Given the description of an element on the screen output the (x, y) to click on. 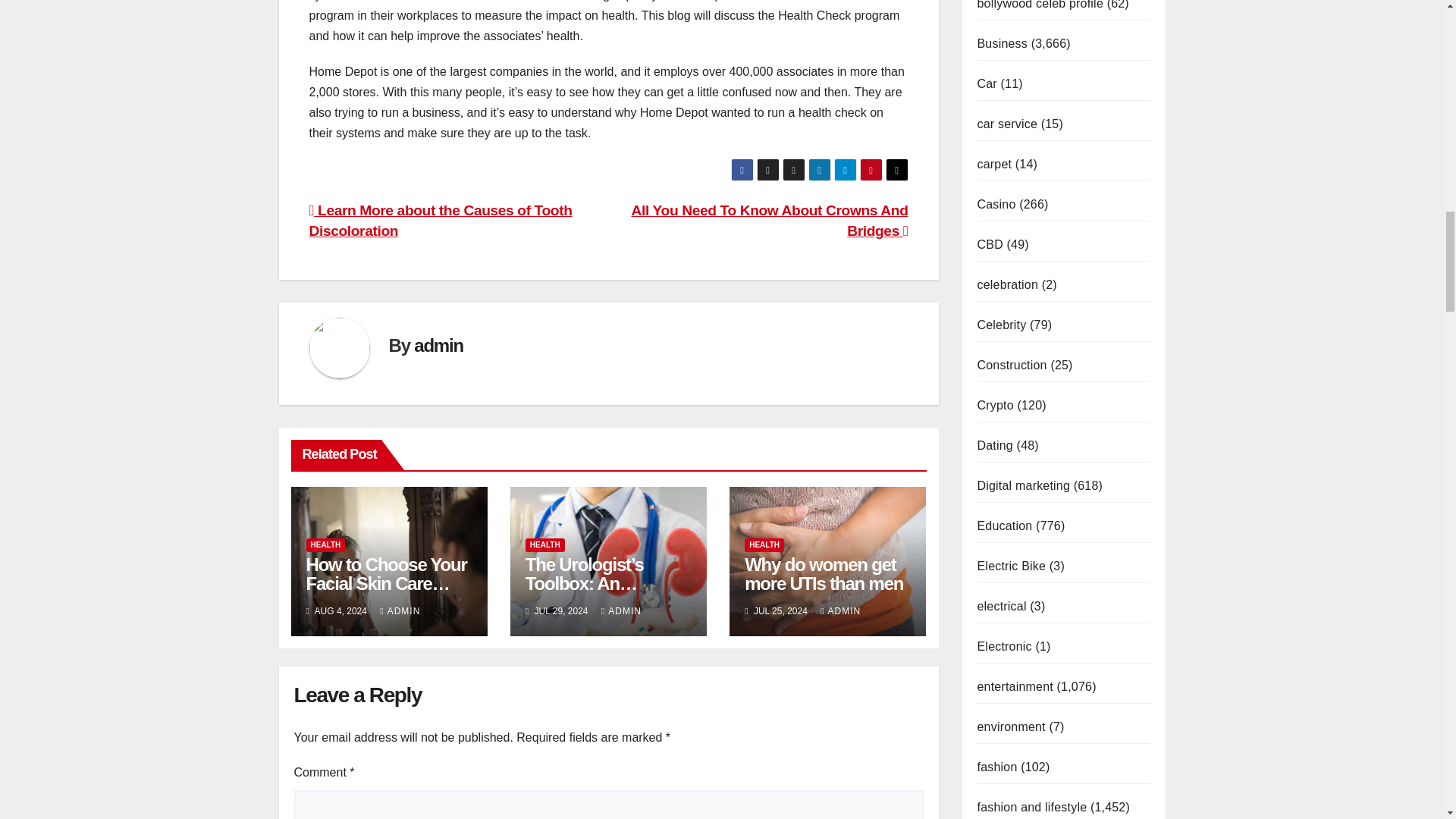
admin (438, 344)
HEALTH (325, 545)
All You Need To Know About Crowns And Bridges (769, 220)
HEALTH (544, 545)
Learn More about the Causes of Tooth Discoloration (440, 220)
ADMIN (400, 611)
Permalink to: Why do women get more UTIs than men (823, 573)
